Given the description of an element on the screen output the (x, y) to click on. 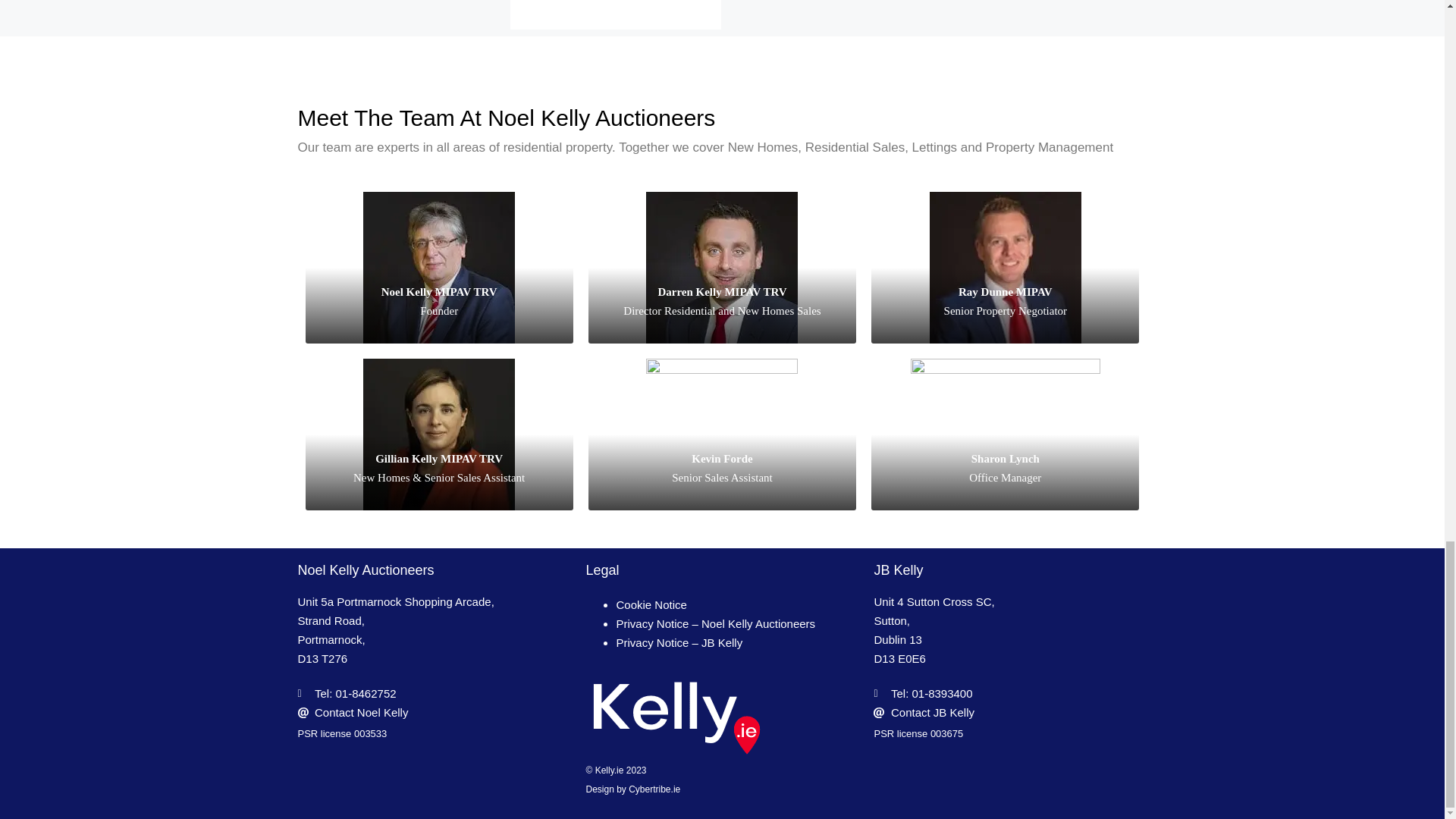
Noel Kelly Auctioneers (365, 570)
